Given the description of an element on the screen output the (x, y) to click on. 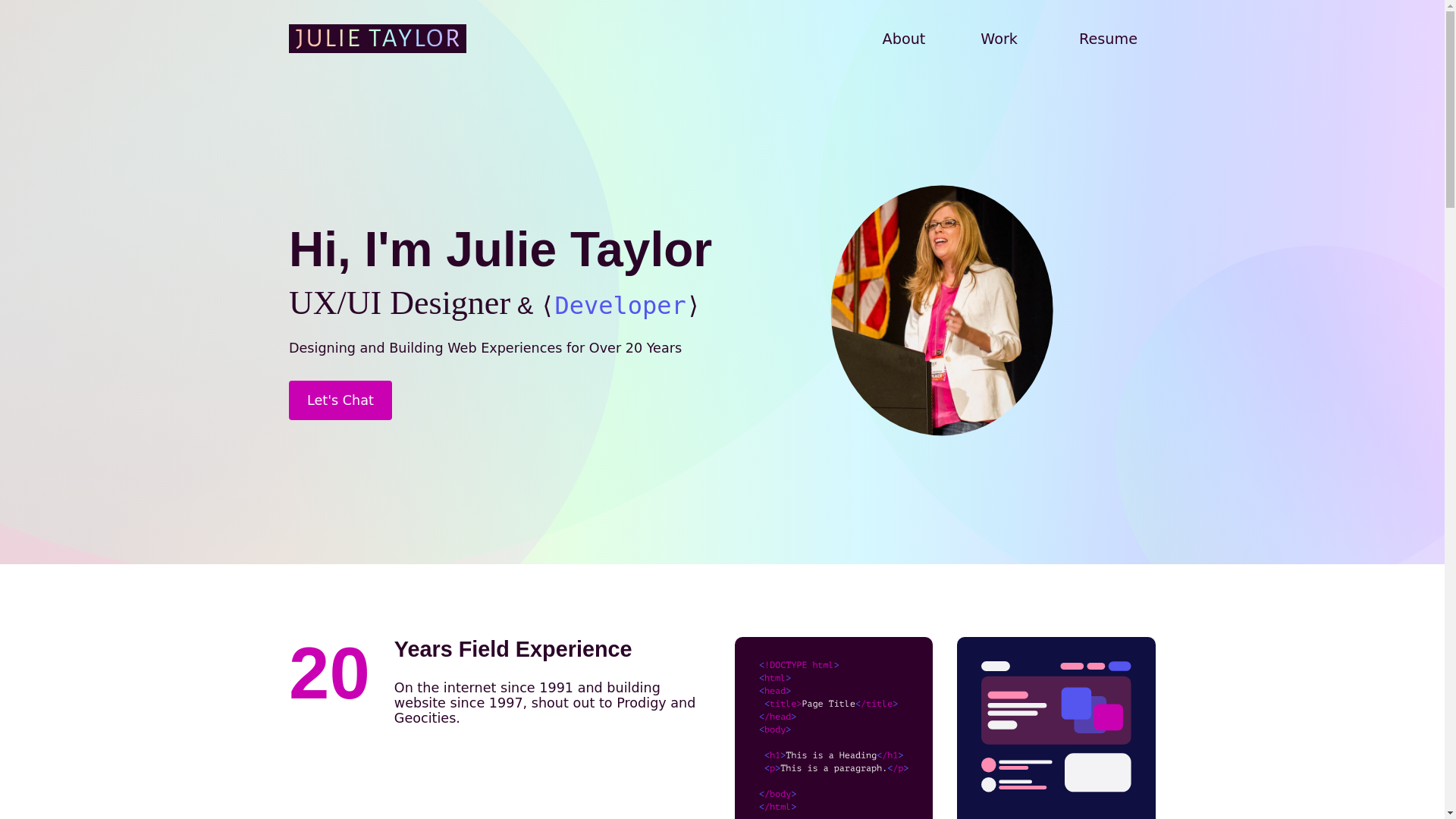
Work (998, 39)
About (903, 39)
Resume (1108, 39)
Let's Chat (339, 400)
